Given the description of an element on the screen output the (x, y) to click on. 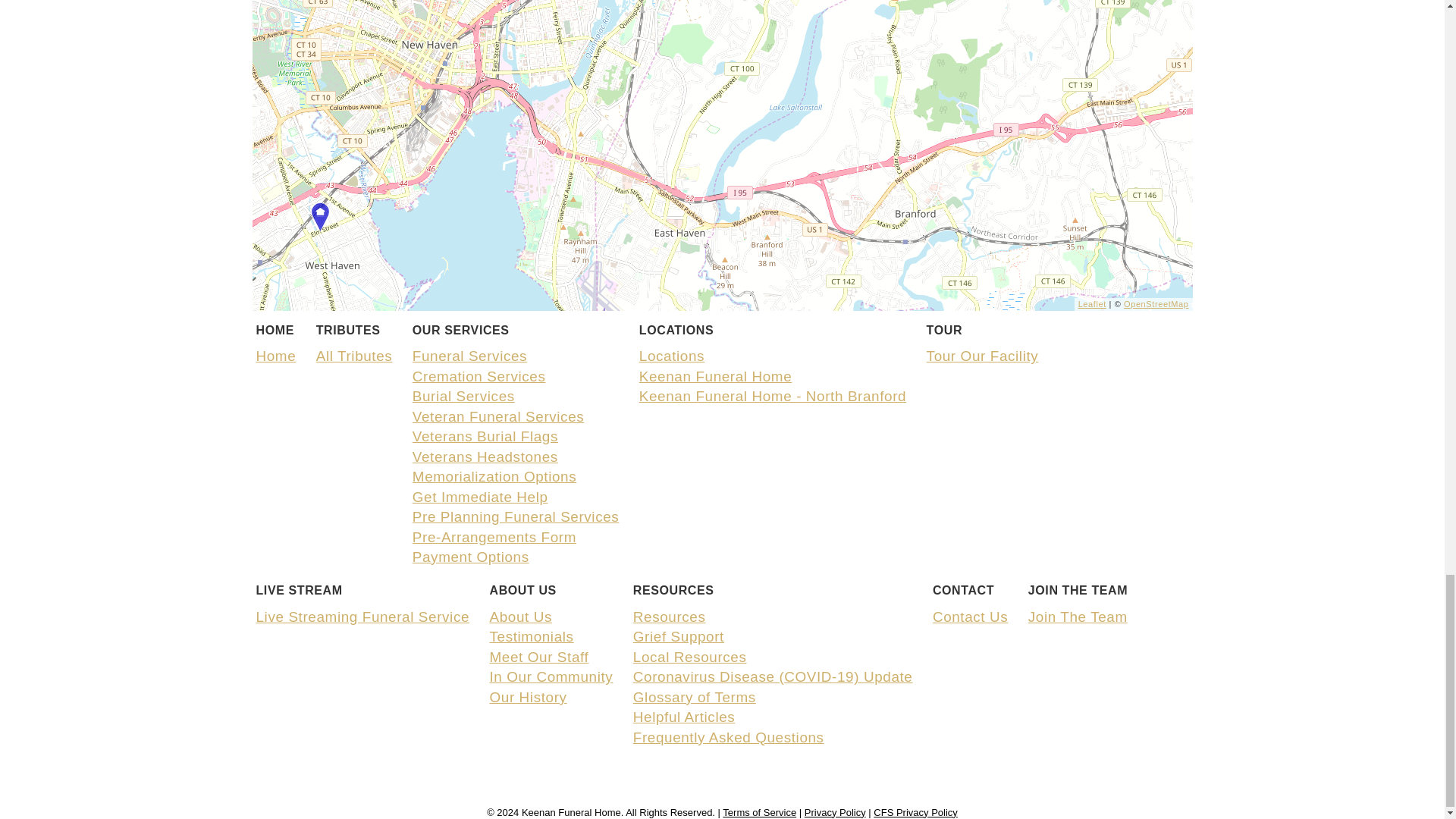
A JS library for interactive maps (1092, 303)
